Given the description of an element on the screen output the (x, y) to click on. 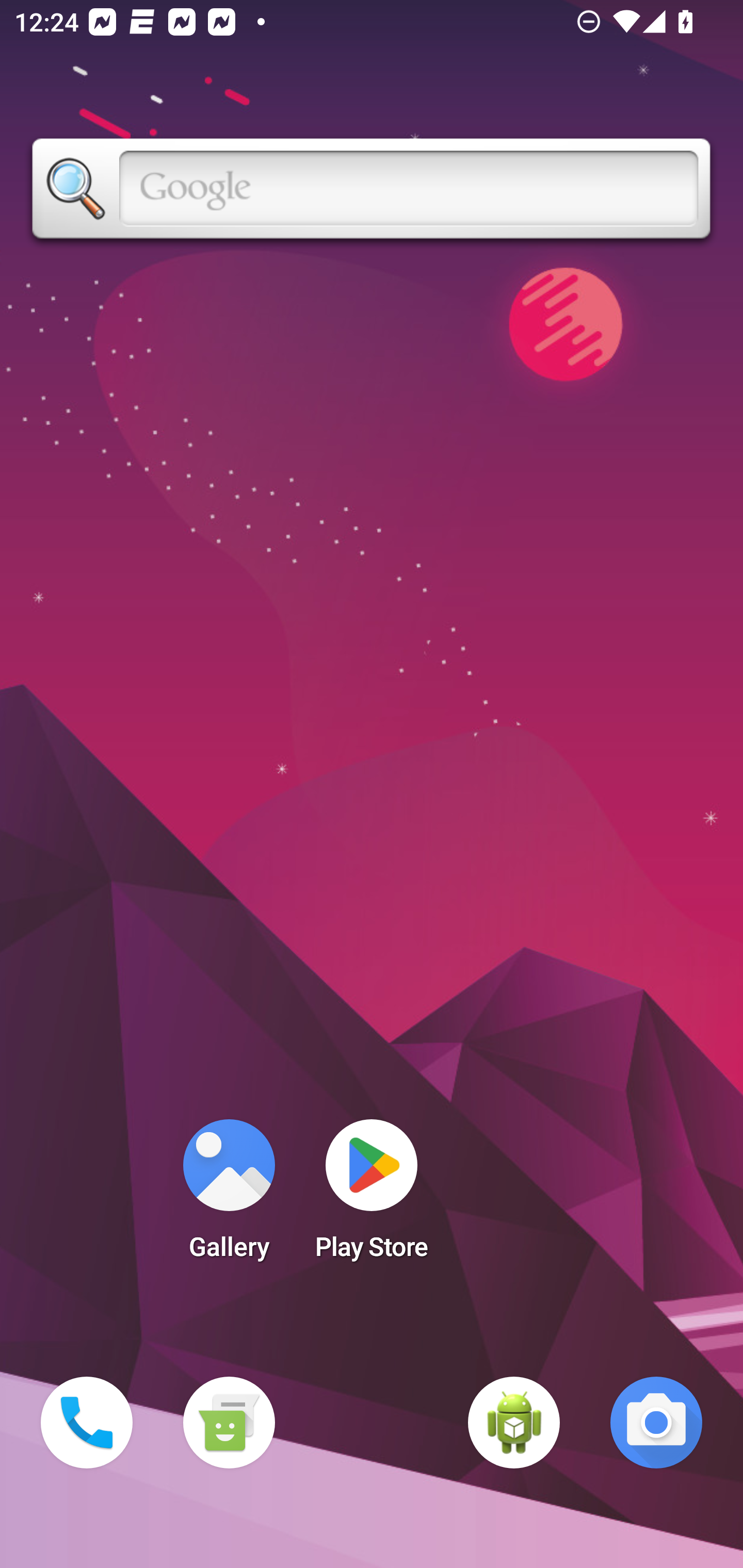
Gallery (228, 1195)
Play Store (371, 1195)
Phone (86, 1422)
Messaging (228, 1422)
WebView Browser Tester (513, 1422)
Camera (656, 1422)
